Given the description of an element on the screen output the (x, y) to click on. 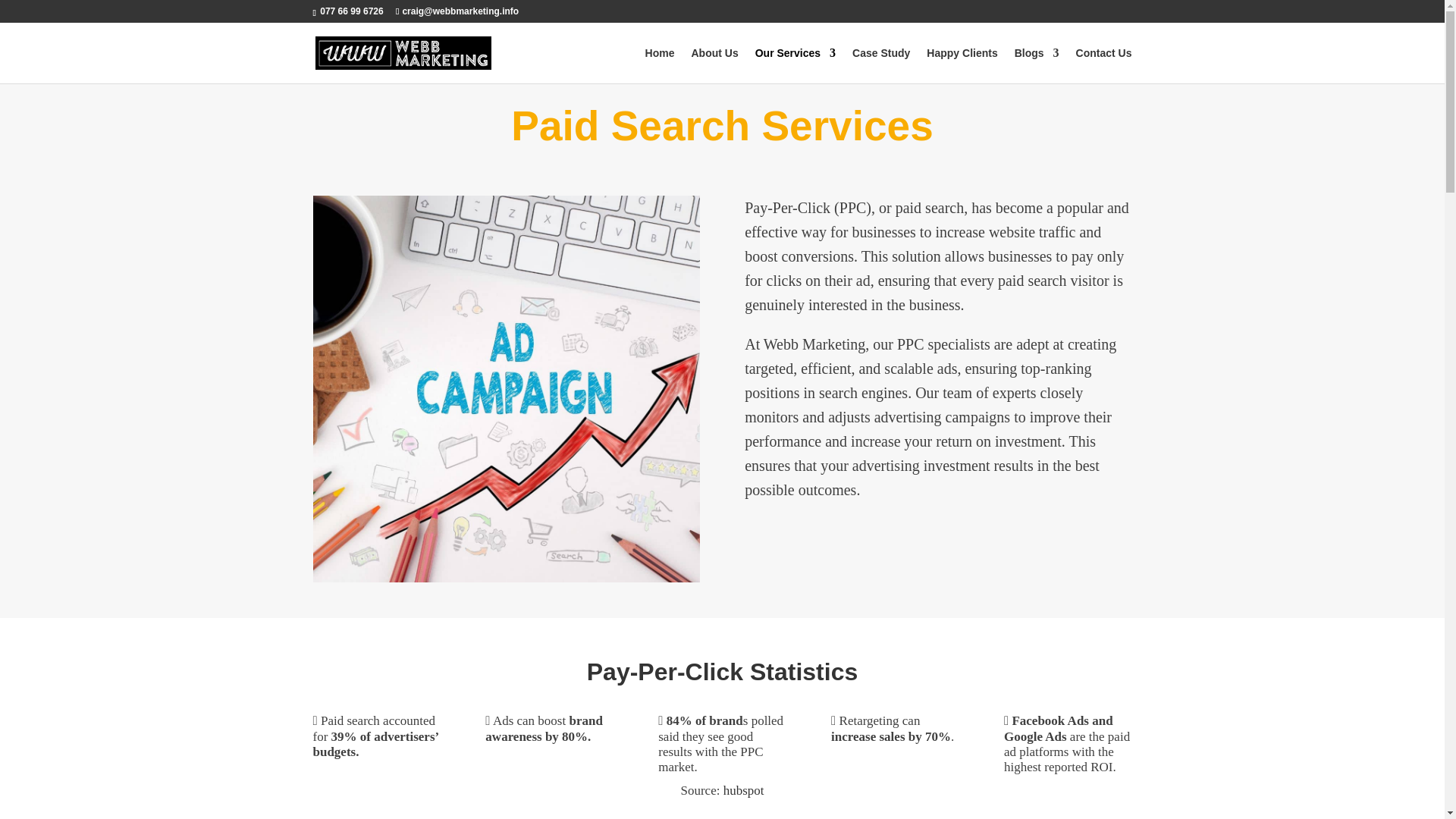
Happy Clients (961, 65)
Blogs (1036, 65)
Our Services (795, 65)
Case Study (880, 65)
hubspot (743, 789)
About Us (714, 65)
Contact Us (1103, 65)
077 66 99 6726 (351, 10)
